Given the description of an element on the screen output the (x, y) to click on. 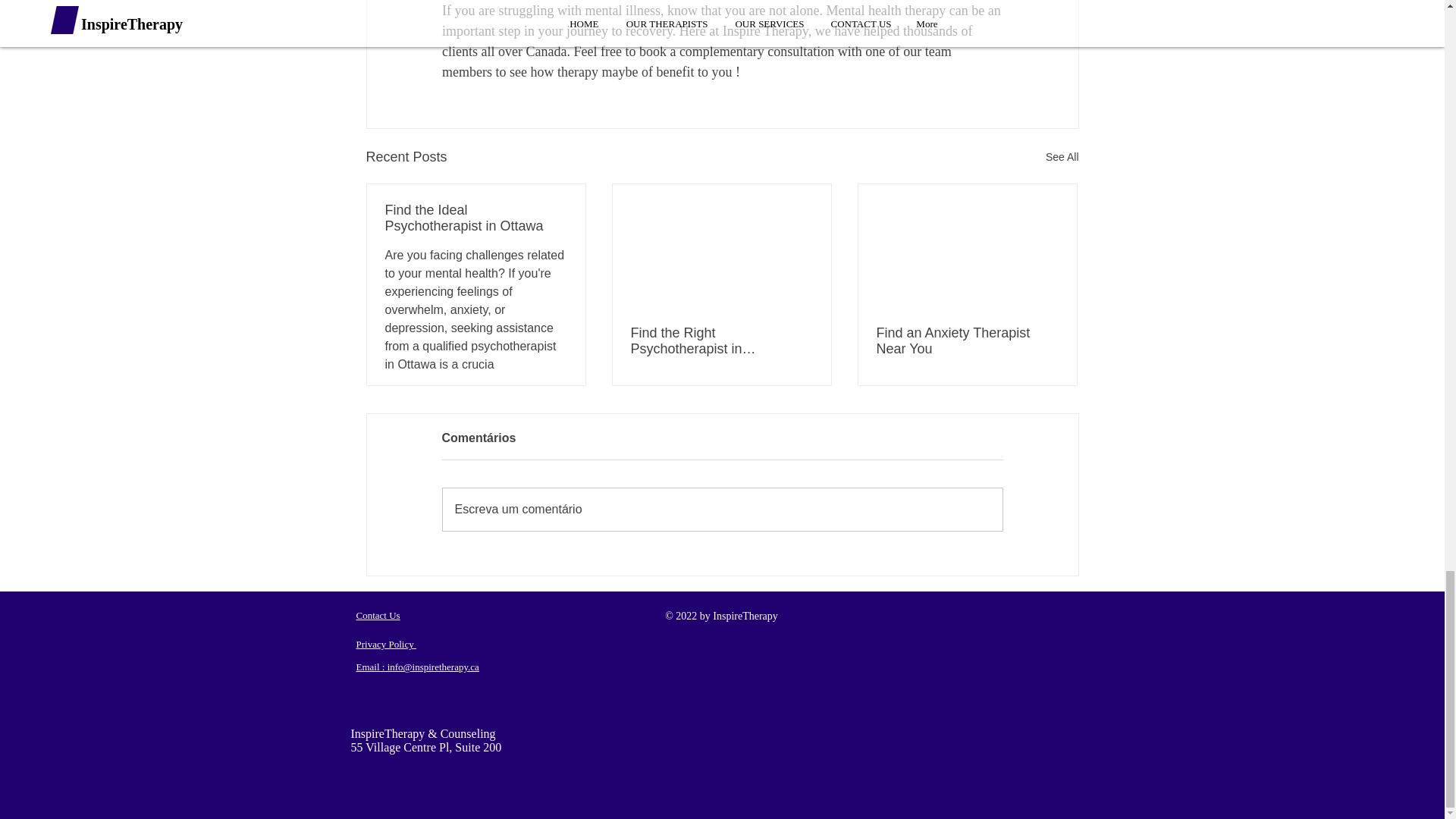
Find an Anxiety Therapist Near You (967, 341)
See All (1061, 157)
Contact Us (378, 614)
Privacy Policy  (386, 644)
Find the Right Psychotherapist in Mississauga (721, 341)
Find the Ideal Psychotherapist in Ottawa (476, 218)
